Given the description of an element on the screen output the (x, y) to click on. 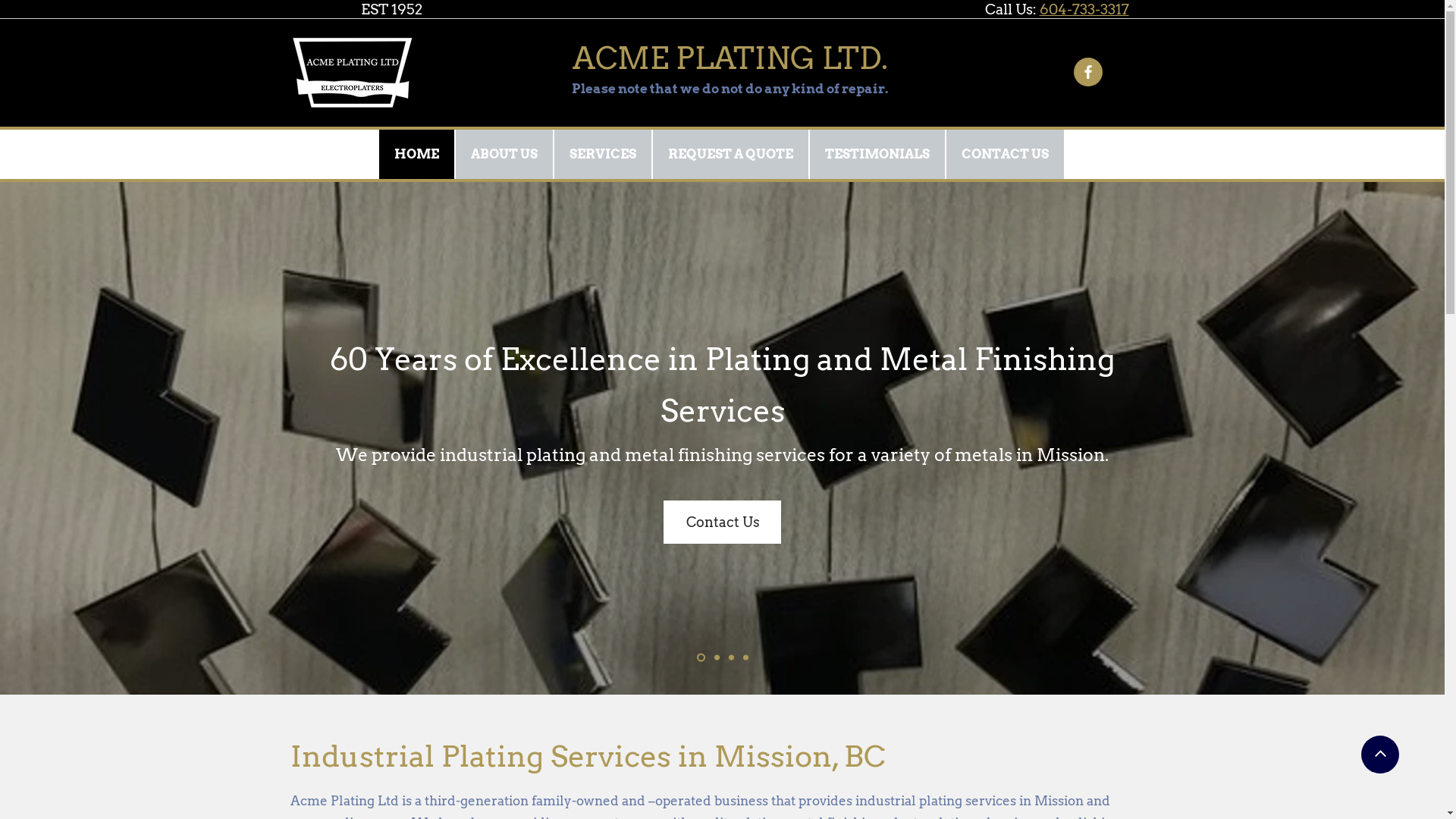
604-733-3317 Element type: text (1083, 9)
SERVICES Element type: text (602, 154)
HOME Element type: text (417, 154)
ABOUT US Element type: text (504, 154)
REQUEST A QUOTE Element type: text (730, 154)
Contact Us Element type: text (721, 521)
CONTACT US Element type: text (1005, 154)
TESTIMONIALS Element type: text (877, 154)
